Given the description of an element on the screen output the (x, y) to click on. 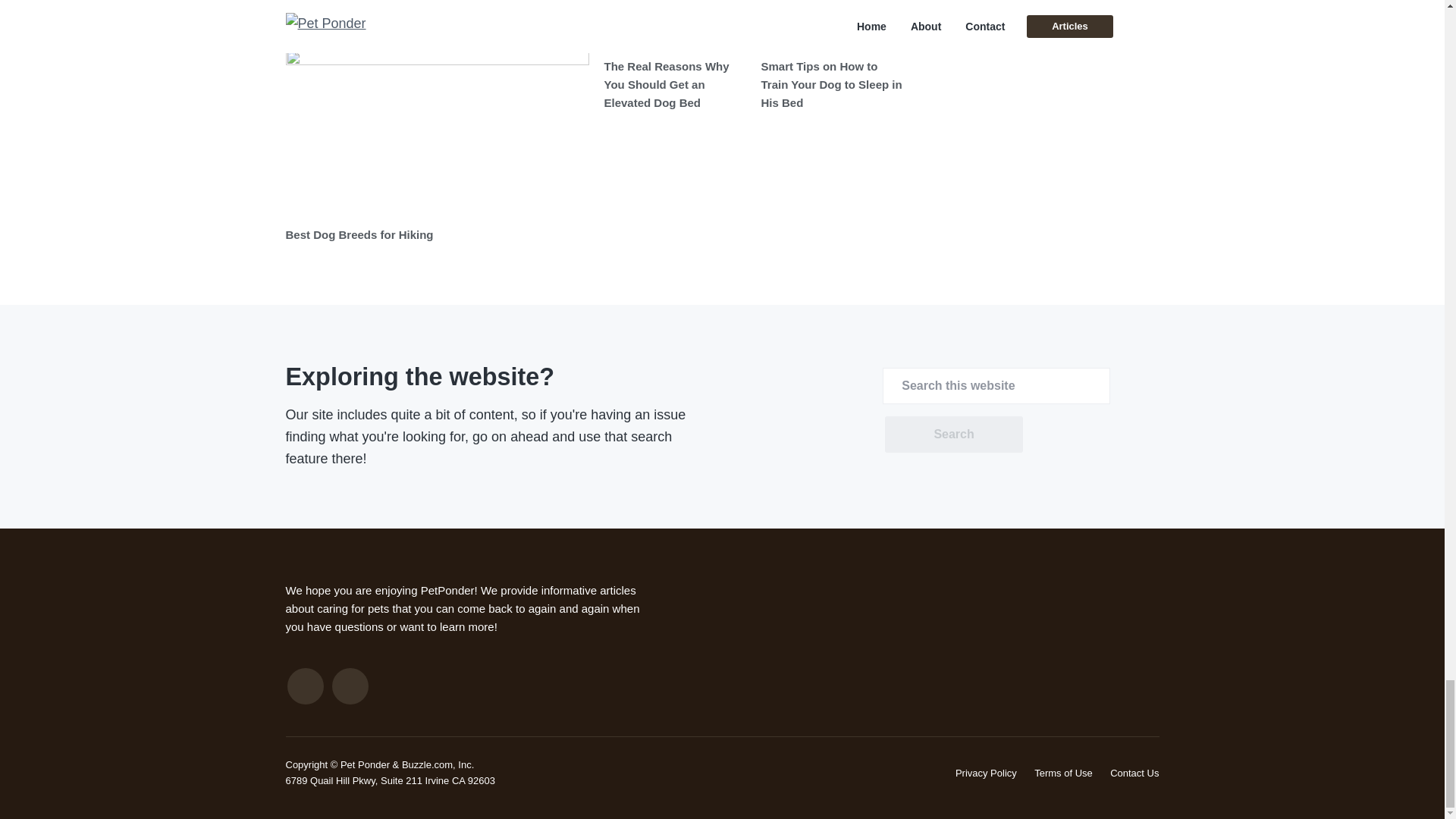
Best Dog Breeds for Hiking (358, 234)
Search (953, 434)
Permanent Link to Best Dog Breeds for Hiking (358, 234)
The Real Reasons Why You Should Get an Elevated Dog Bed (666, 84)
Search (953, 434)
Smart Tips on How to Train Your Dog to Sleep in His Bed (831, 84)
Search (953, 434)
Permanent Link to Best Dog Breeds for Hiking (436, 133)
